Given the description of an element on the screen output the (x, y) to click on. 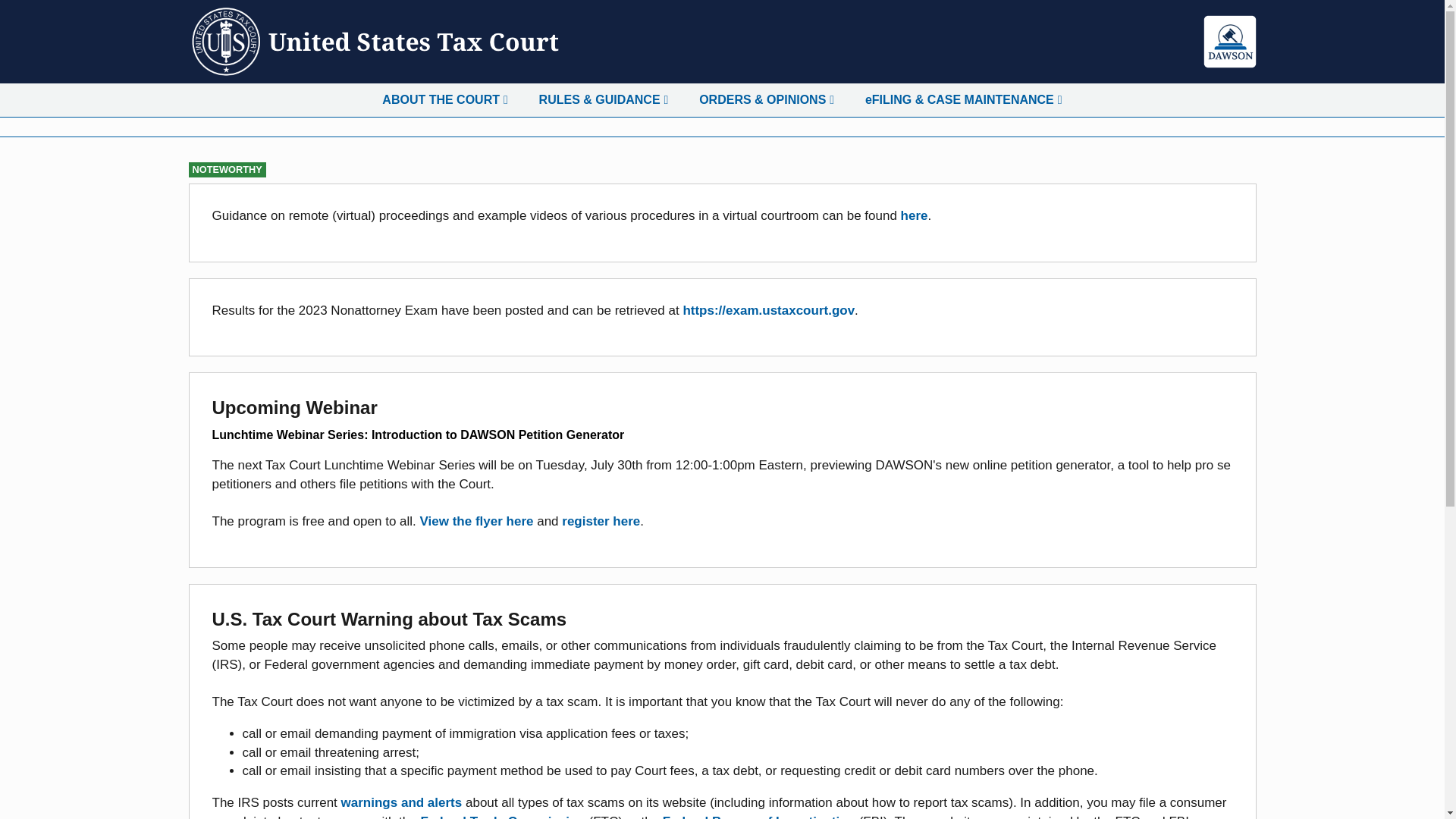
Redirect IRS Scams (401, 802)
Nonattorney Admissions Exam Results (768, 310)
Petition Generator Webinar Registration (601, 521)
Petition Generator Webinar Flyer (477, 521)
ABOUT THE COURT (444, 100)
Zoomgov Proceedings (914, 215)
Report Fraud (759, 816)
DAWSON Electronic Filing and Case Management System (1230, 41)
Report Fraud (504, 816)
